Given the description of an element on the screen output the (x, y) to click on. 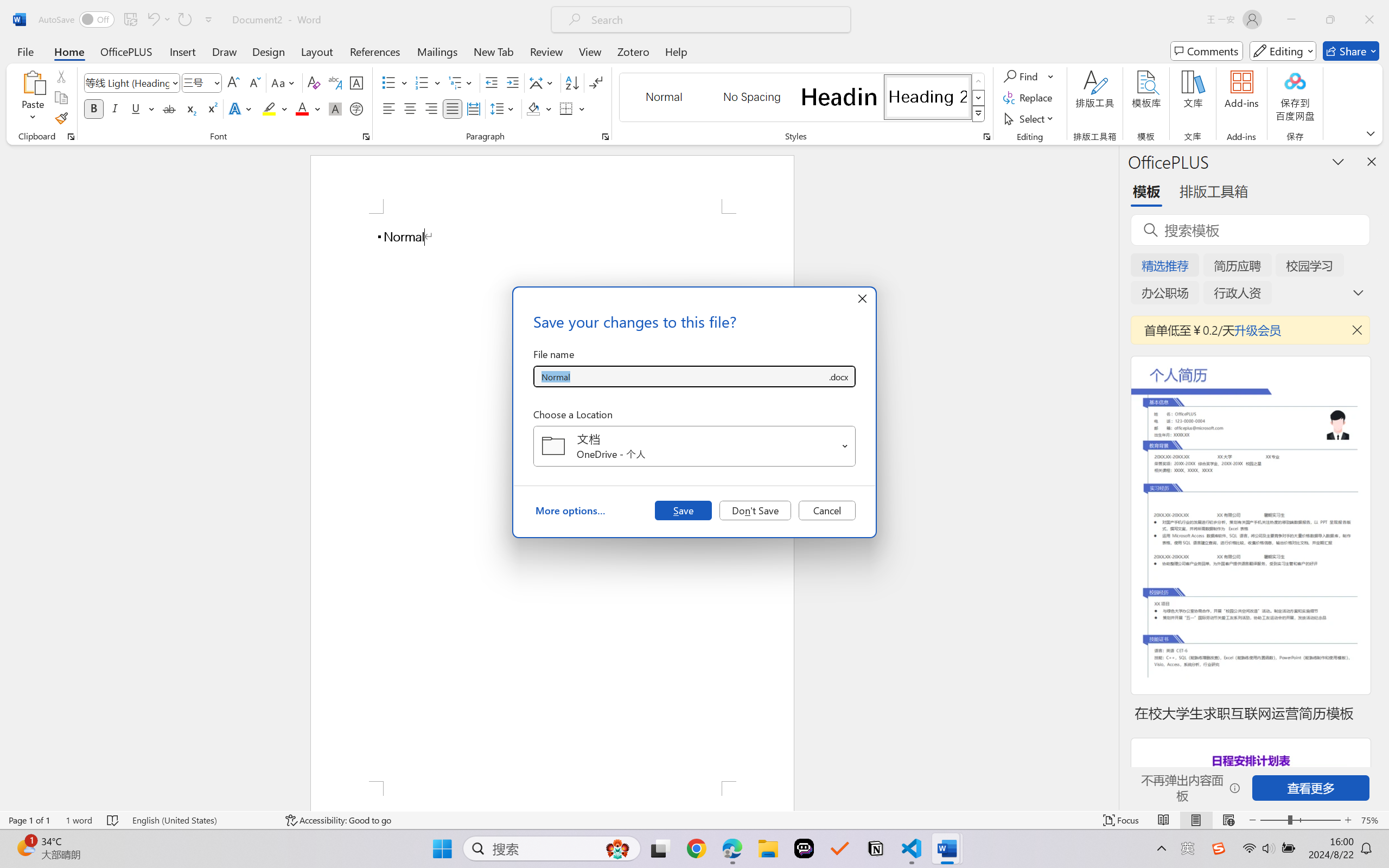
Text Highlight Color (274, 108)
Character Border (356, 82)
Bullets (395, 82)
Increase Indent (512, 82)
Read Mode (1163, 819)
Numbering (428, 82)
Font Color Red (302, 108)
Paste (33, 97)
Customize Quick Access Toolbar (208, 19)
Font... (365, 136)
Draw (224, 51)
Shrink Font (253, 82)
Grow Font (233, 82)
Class: NetUIScrollBar (1111, 477)
